Given the description of an element on the screen output the (x, y) to click on. 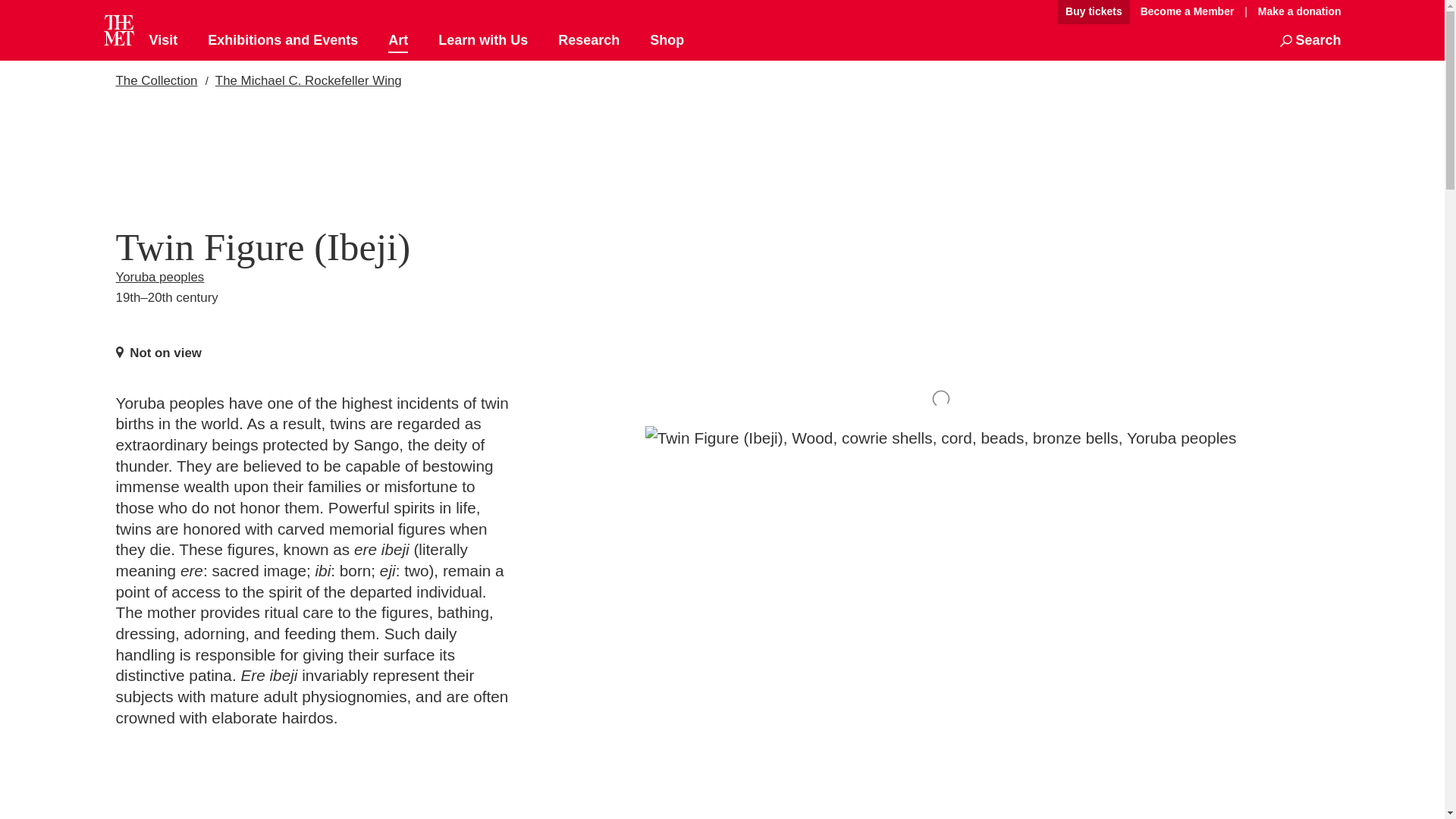
Jump to content (1005, 12)
Homepage (118, 30)
Learn with Us (482, 41)
Research (588, 41)
tickets (1093, 12)
Member (1186, 12)
The Collection (155, 80)
Search (1309, 41)
Make a donation (1295, 11)
Exhibitions and Events (283, 41)
Search Button (1309, 41)
Shop (666, 41)
Visit (162, 41)
